Given the description of an element on the screen output the (x, y) to click on. 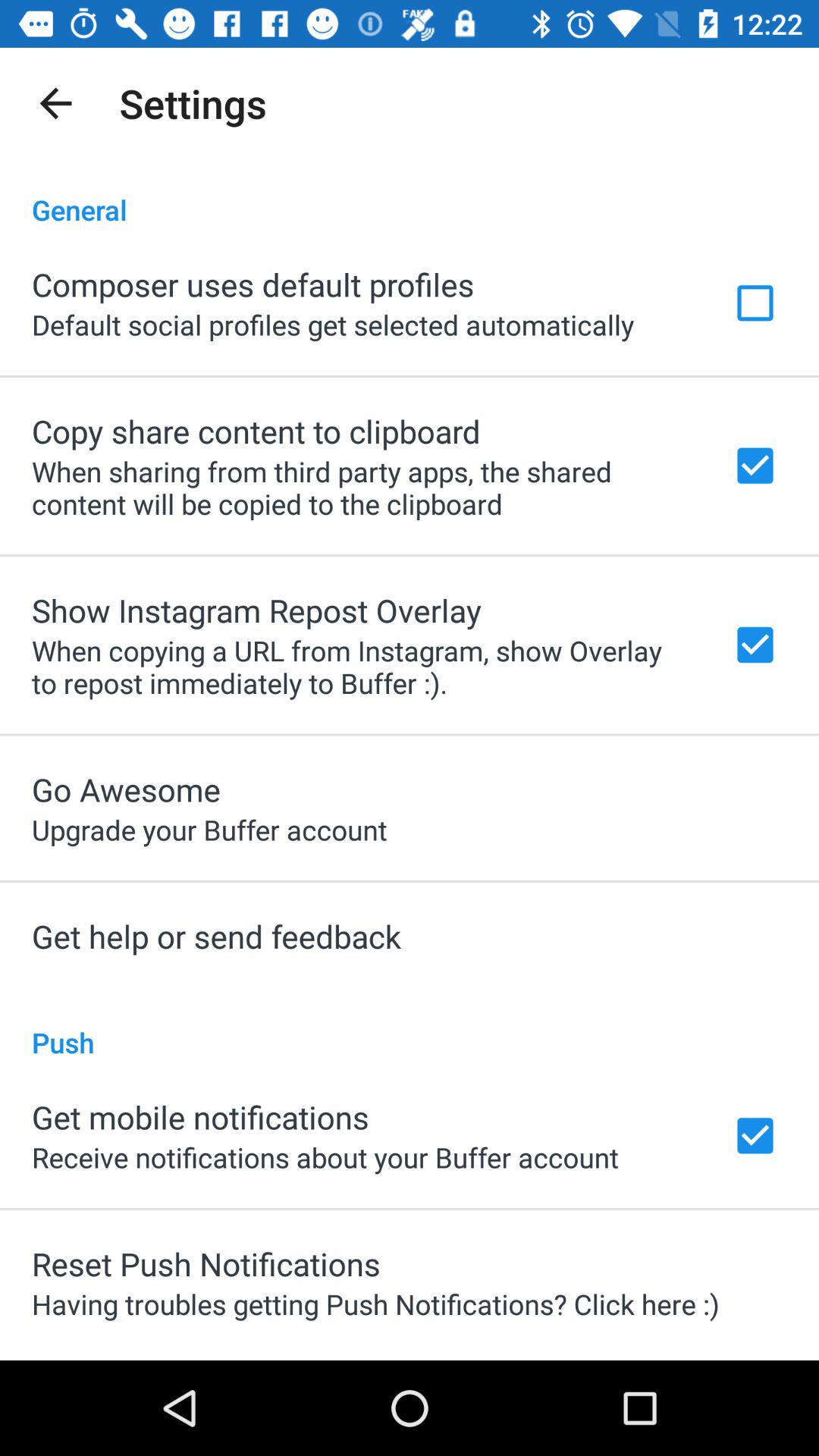
open the go awesome app (125, 789)
